Given the description of an element on the screen output the (x, y) to click on. 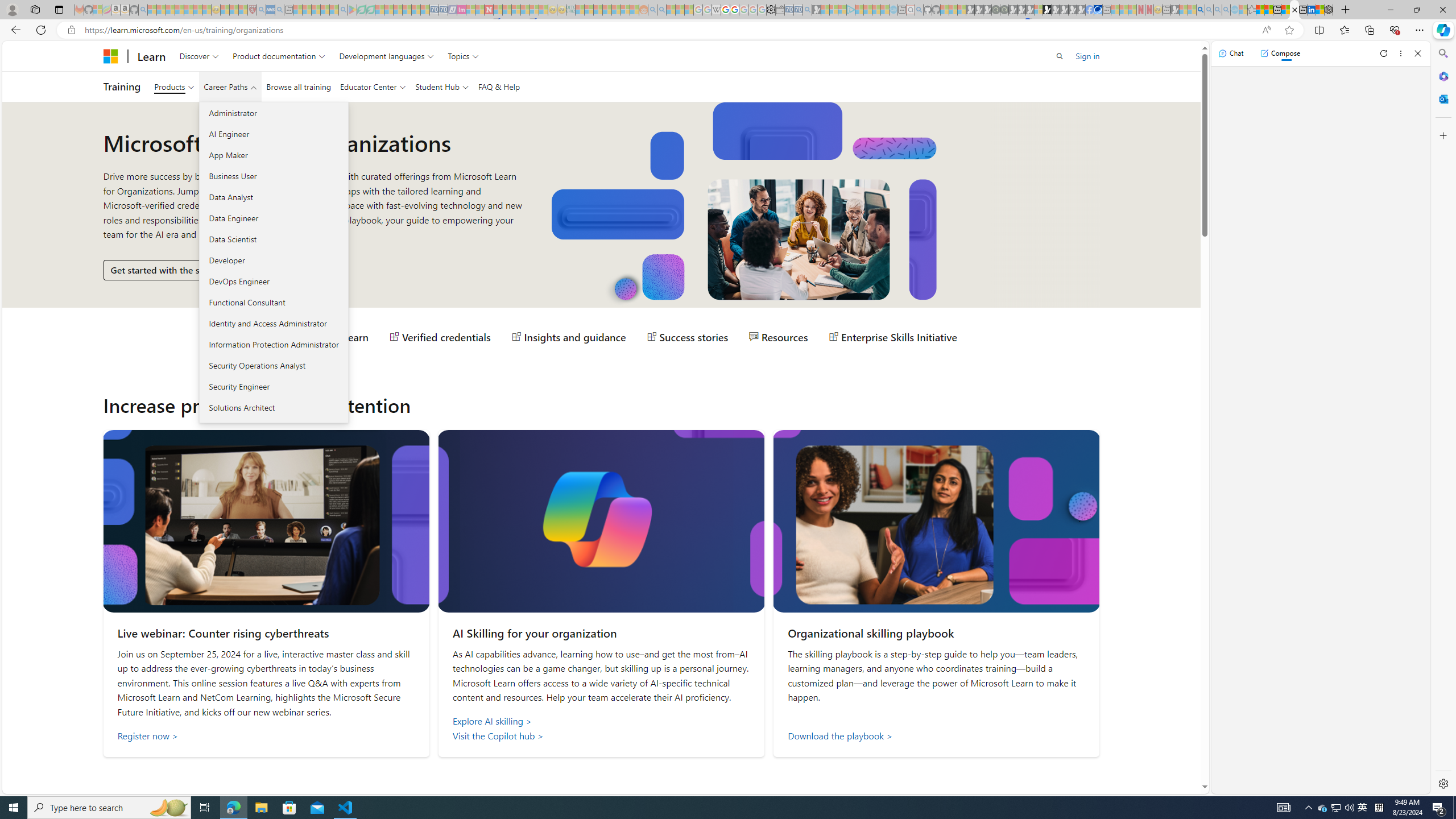
Data Engineer (273, 217)
Resources (778, 336)
Security Engineer (273, 386)
Educator Center (372, 86)
Career Paths (230, 86)
